Given the description of an element on the screen output the (x, y) to click on. 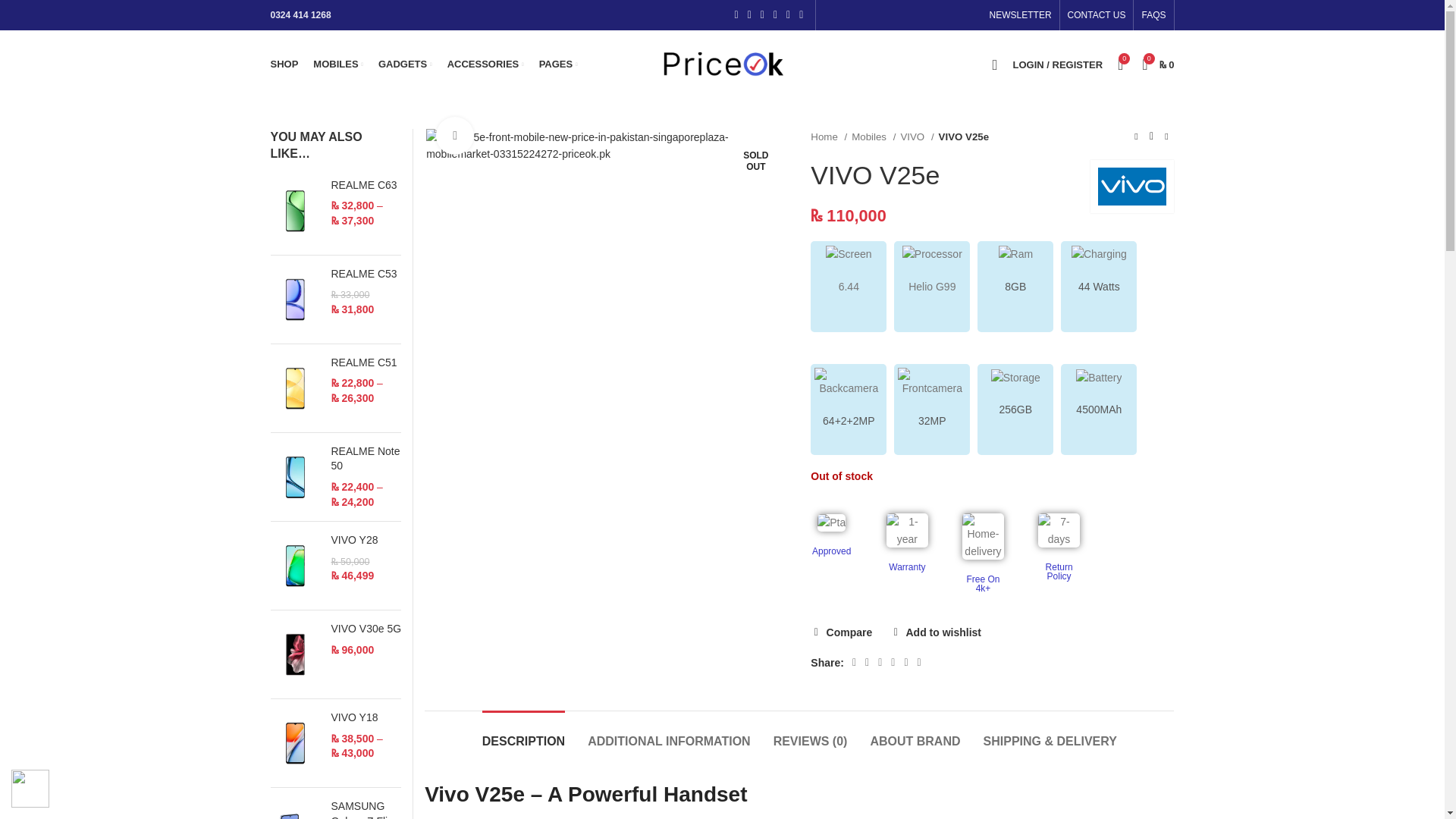
0324 414 1268 (299, 14)
7-days (1059, 530)
Vivo (1131, 186)
My account (1057, 64)
SHOP (283, 64)
1-year (907, 530)
NEWSLETTER (1020, 15)
MOBILES (338, 64)
GADGETS (405, 64)
